Given the description of an element on the screen output the (x, y) to click on. 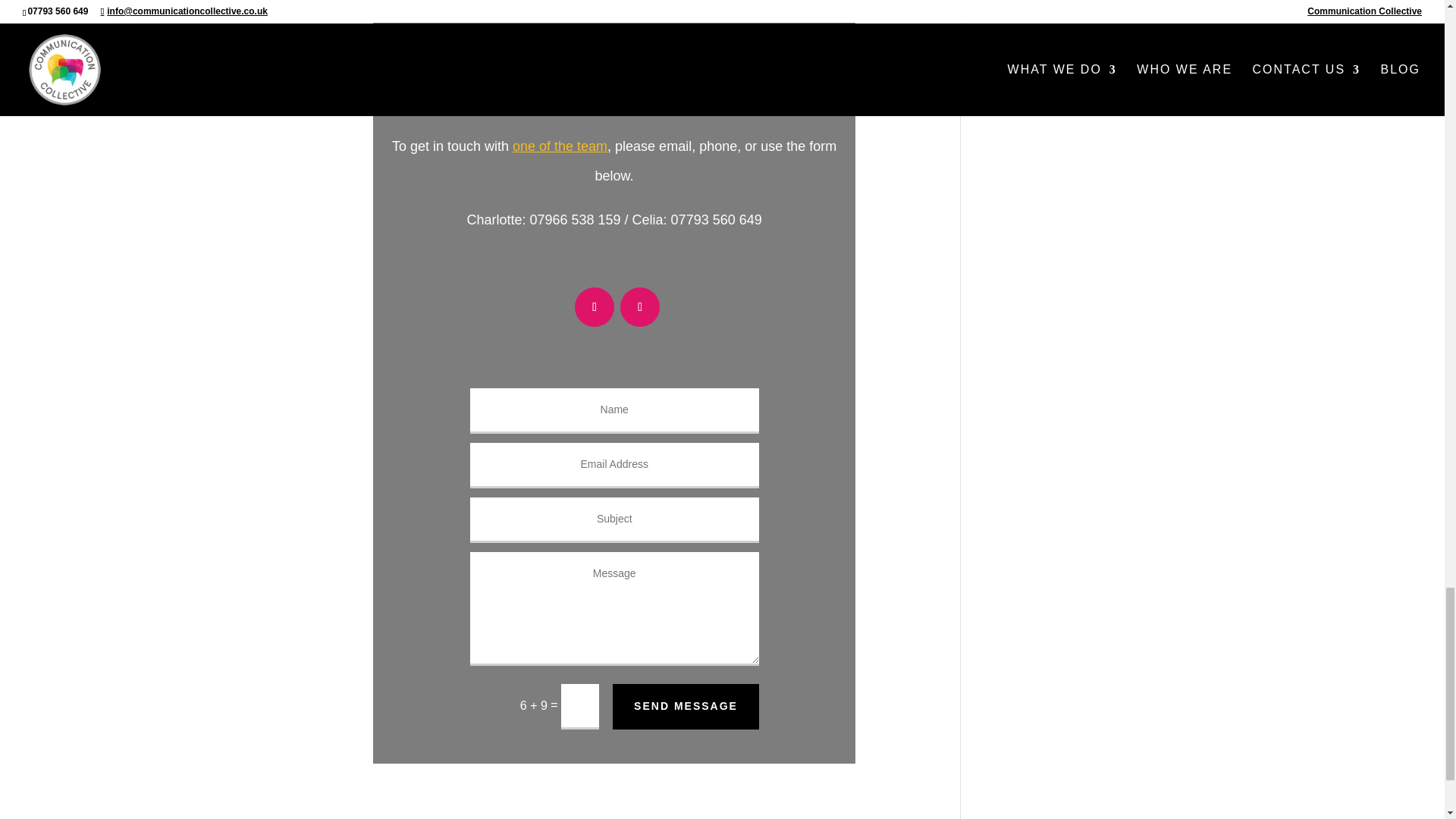
Follow on Facebook (639, 306)
Follow on LinkedIn (594, 306)
